Given the description of an element on the screen output the (x, y) to click on. 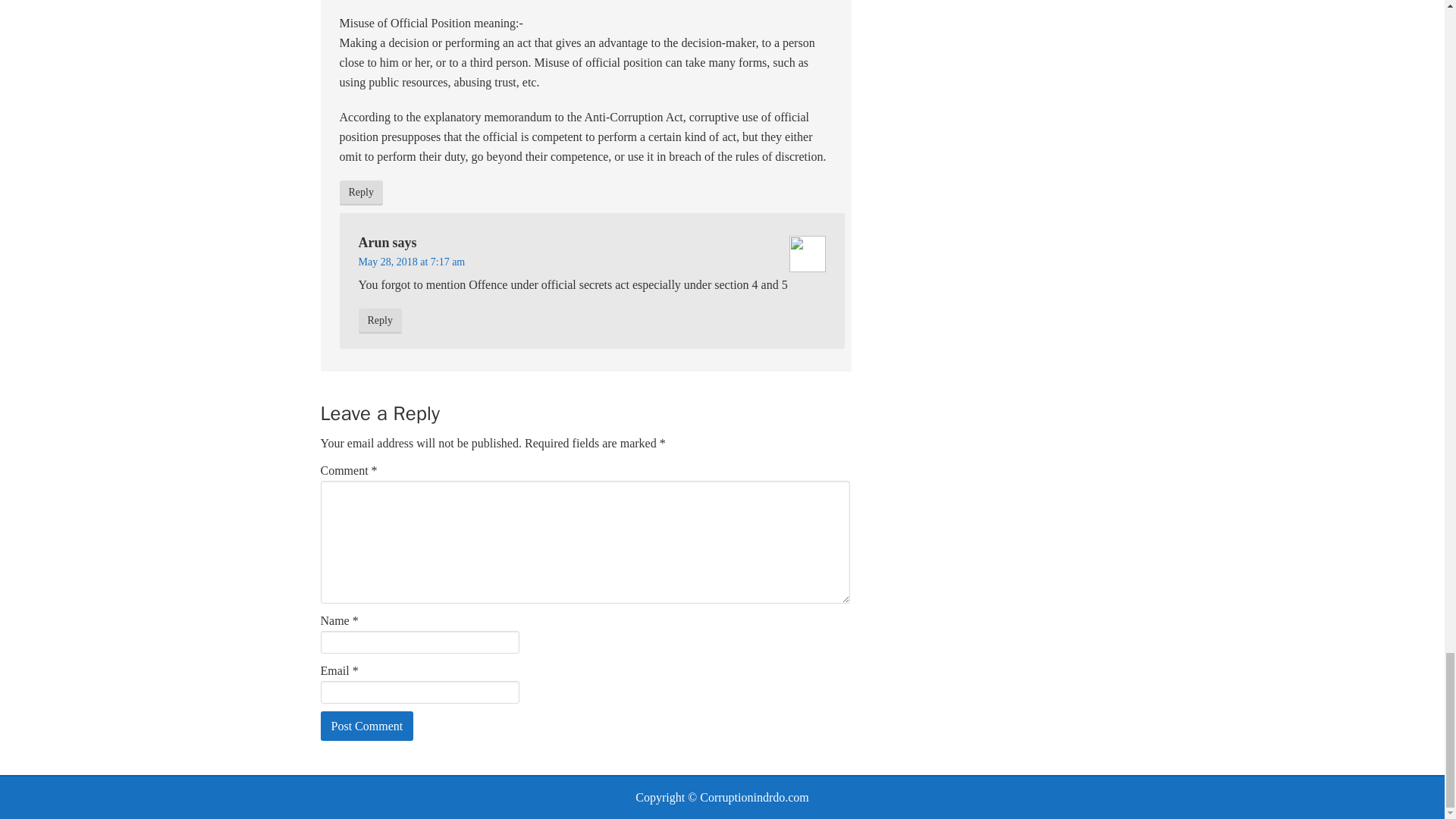
Post Comment (366, 726)
Reply (379, 320)
Post Comment (366, 726)
Reply (360, 192)
May 28, 2018 at 7:17 am (411, 261)
